Given the description of an element on the screen output the (x, y) to click on. 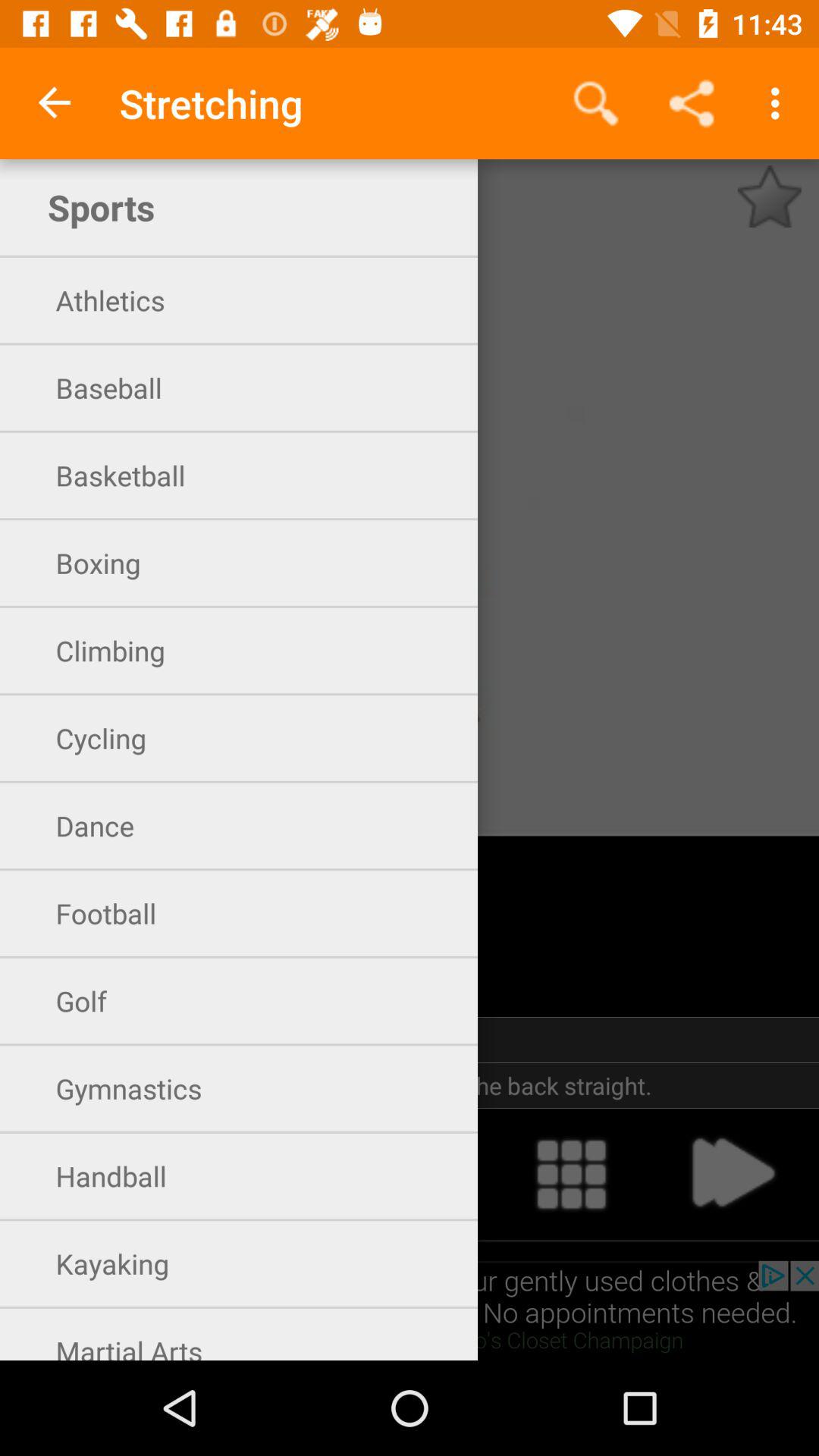
explore more options (570, 1174)
